Given the description of an element on the screen output the (x, y) to click on. 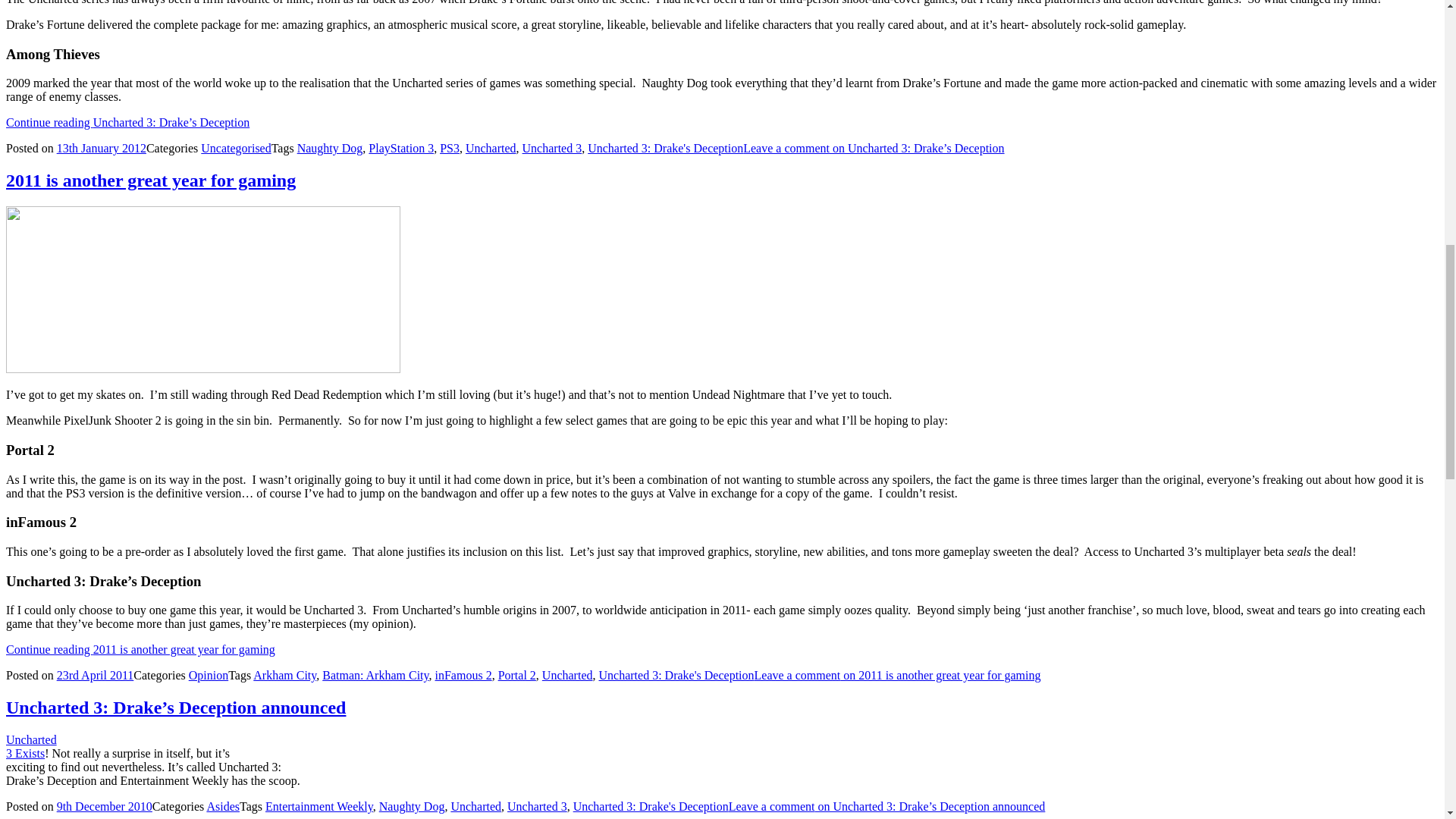
Naughty Dog (329, 147)
Uncategorised (235, 147)
Nate looks for what's to come in 2011 (202, 289)
13th January 2012 (101, 147)
